Given the description of an element on the screen output the (x, y) to click on. 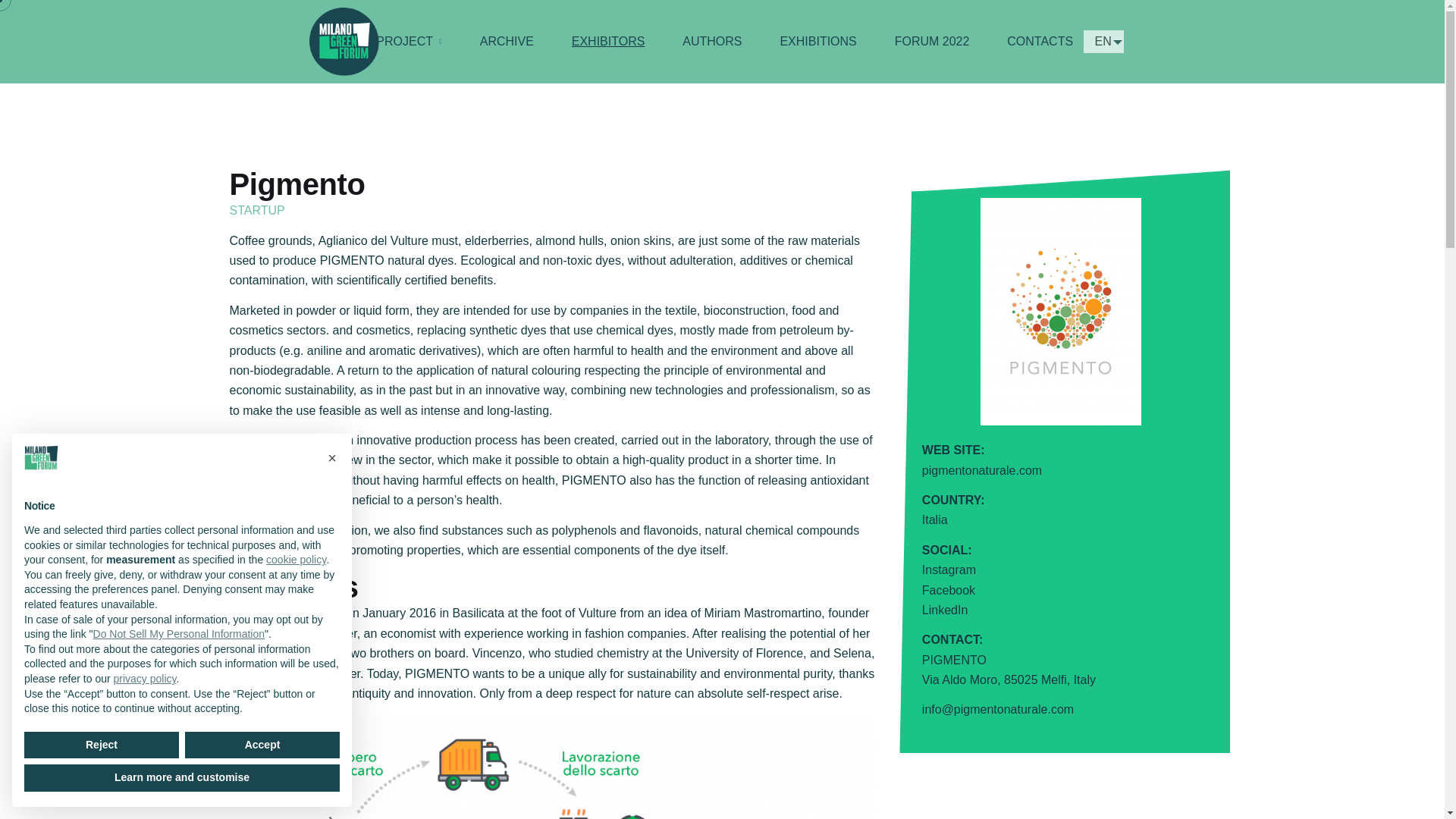
cookie policy (296, 559)
ARCHIVE (507, 41)
Facebook (948, 590)
EXHIBITIONS (817, 41)
CONTACTS (1040, 41)
EXHIBITORS (608, 41)
PROJECT (408, 41)
AUTHORS (711, 41)
privacy policy (144, 678)
Do Not Sell My Personal Information (178, 634)
pigmentonaturale.com (981, 470)
FORUM 2022 (932, 41)
Accept (261, 745)
Instagram (948, 569)
